Given the description of an element on the screen output the (x, y) to click on. 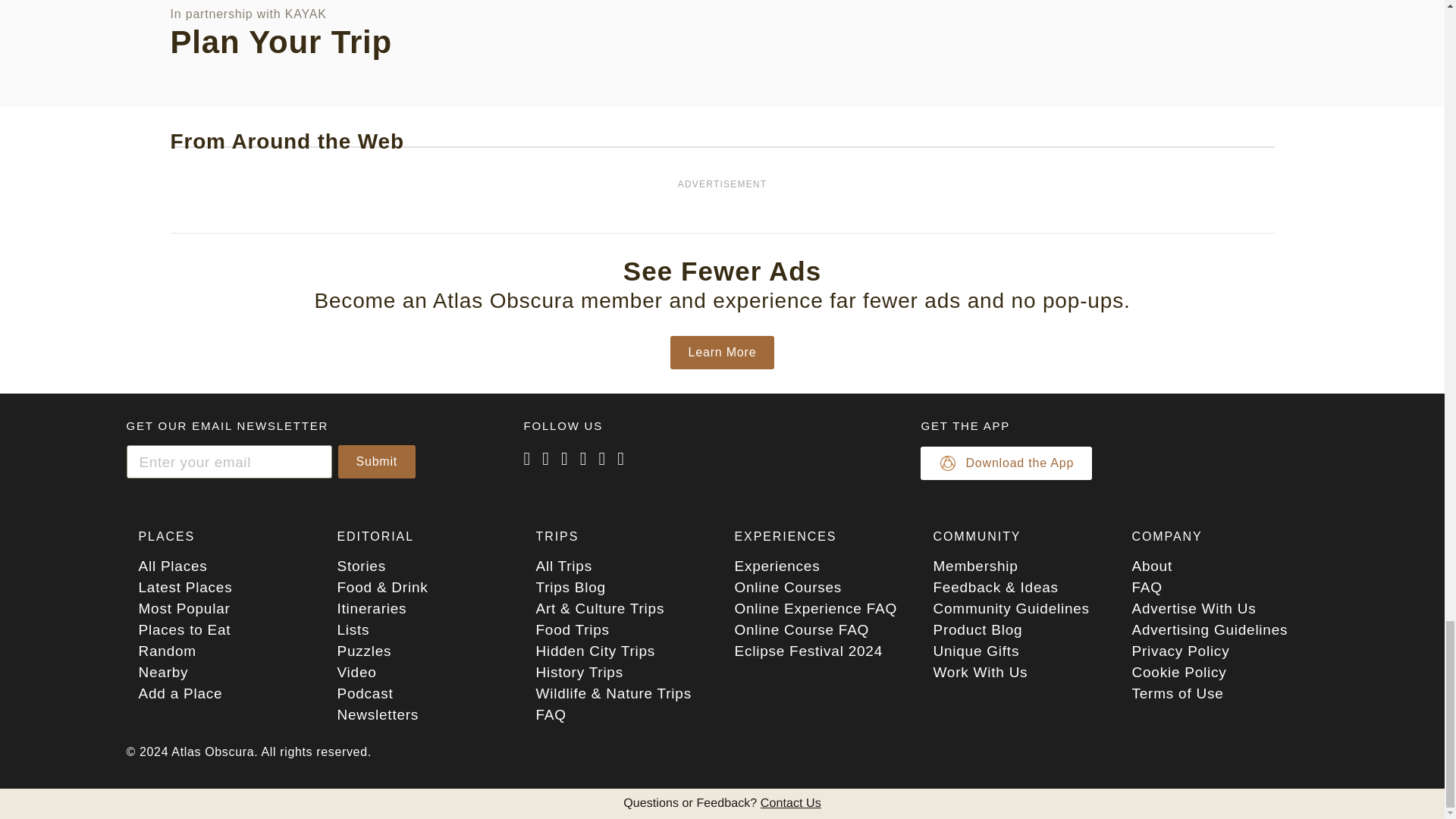
Submit (376, 461)
